Given the description of an element on the screen output the (x, y) to click on. 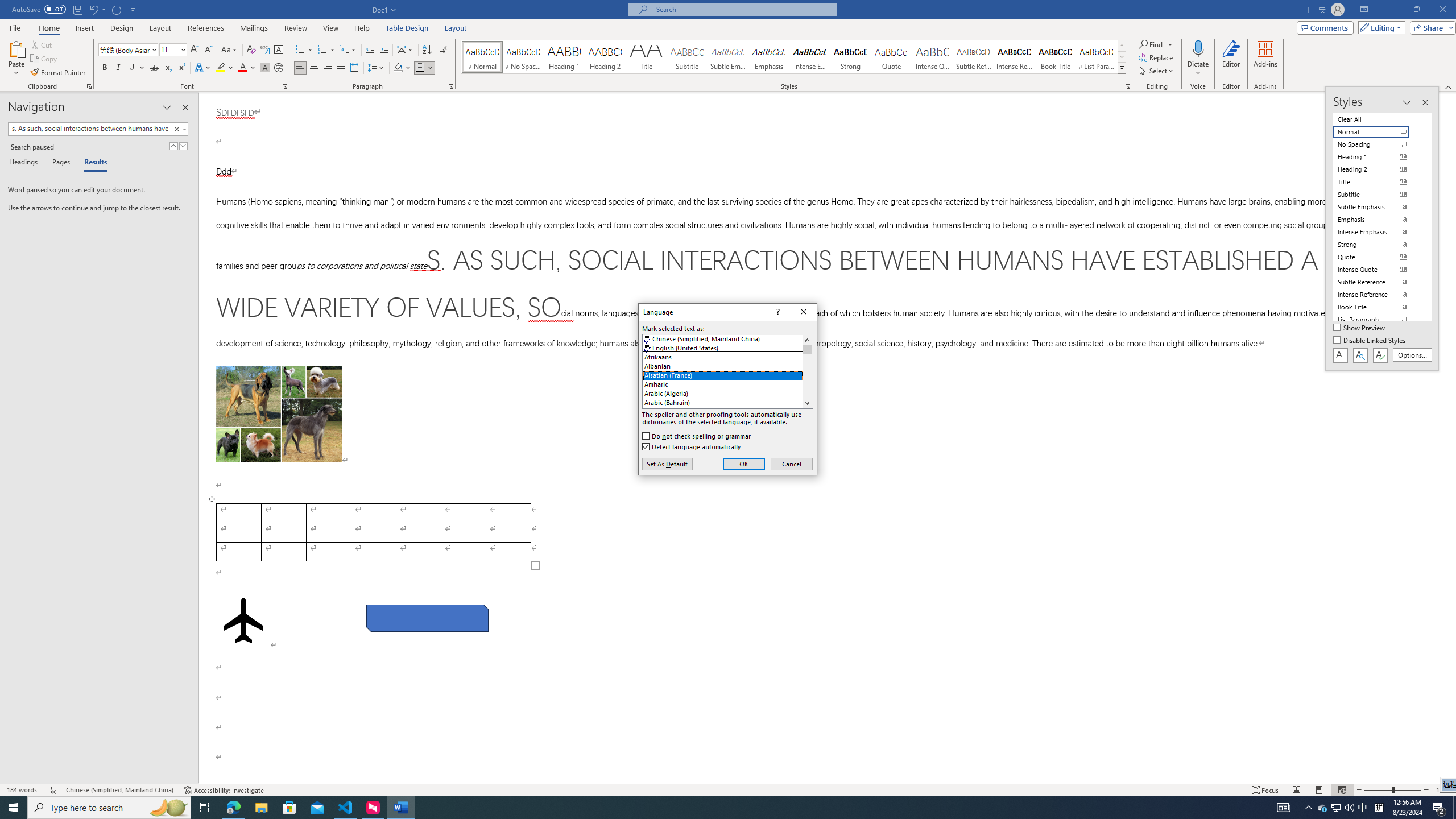
Show/Hide Editing Marks (444, 49)
Ribbon Display Options (1364, 9)
Font Size (1362, 807)
Replace... (172, 49)
Show desktop (1156, 56)
Mailings (1454, 807)
Open (253, 28)
Airplane with solid fill (182, 49)
Quote (242, 619)
Clear Formatting (891, 56)
Close (250, 49)
Format Painter (803, 312)
AutomationID: 21 (58, 72)
